Given the description of an element on the screen output the (x, y) to click on. 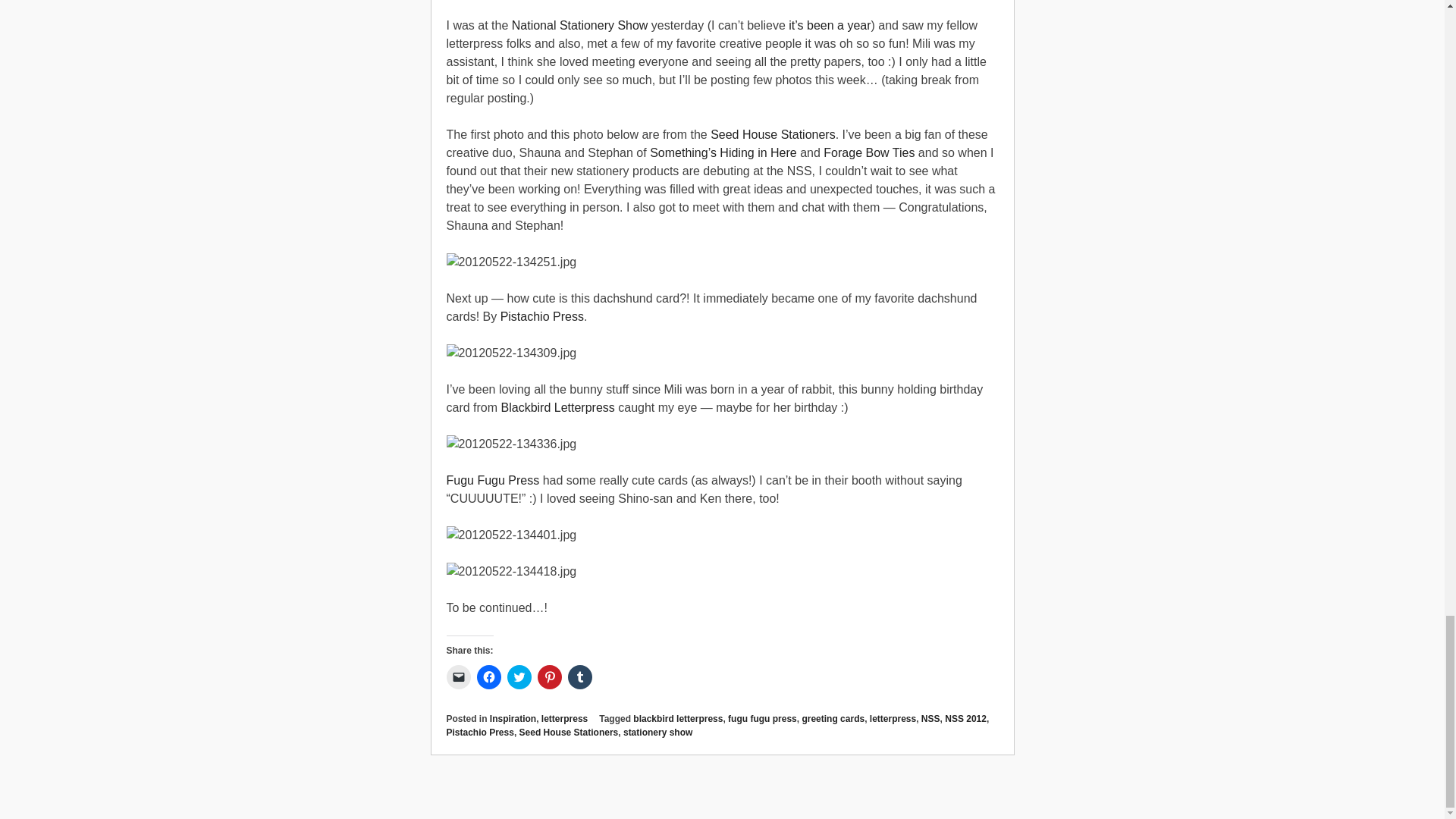
Heartfish Press (829, 24)
NSS (579, 24)
Pistachio Press (541, 316)
Forage Bow Ties (869, 152)
Seed House (772, 133)
Something's Hiding in here (722, 152)
